Given the description of an element on the screen output the (x, y) to click on. 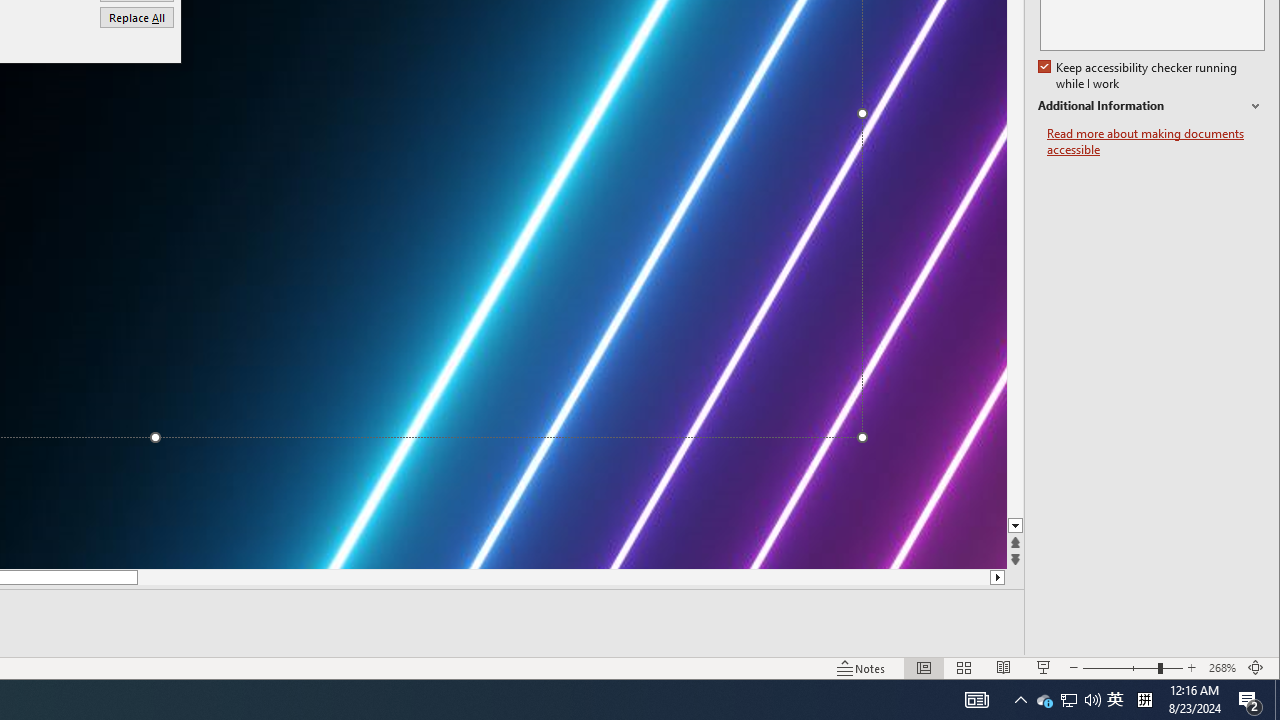
Zoom 268% (1222, 668)
